Given the description of an element on the screen output the (x, y) to click on. 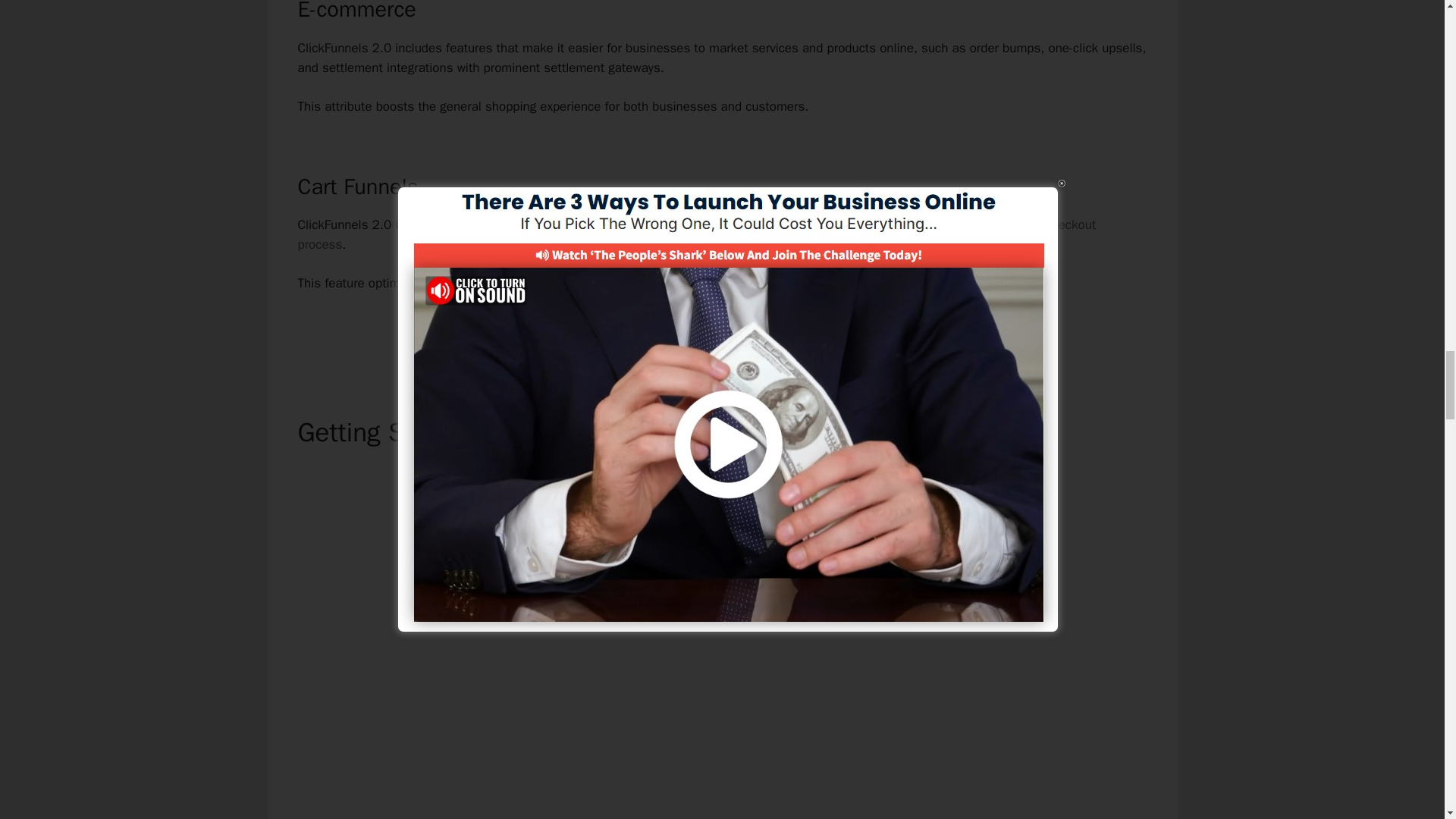
checkout process (696, 234)
Visit Here To Choose All Templates Today (722, 335)
